Given the description of an element on the screen output the (x, y) to click on. 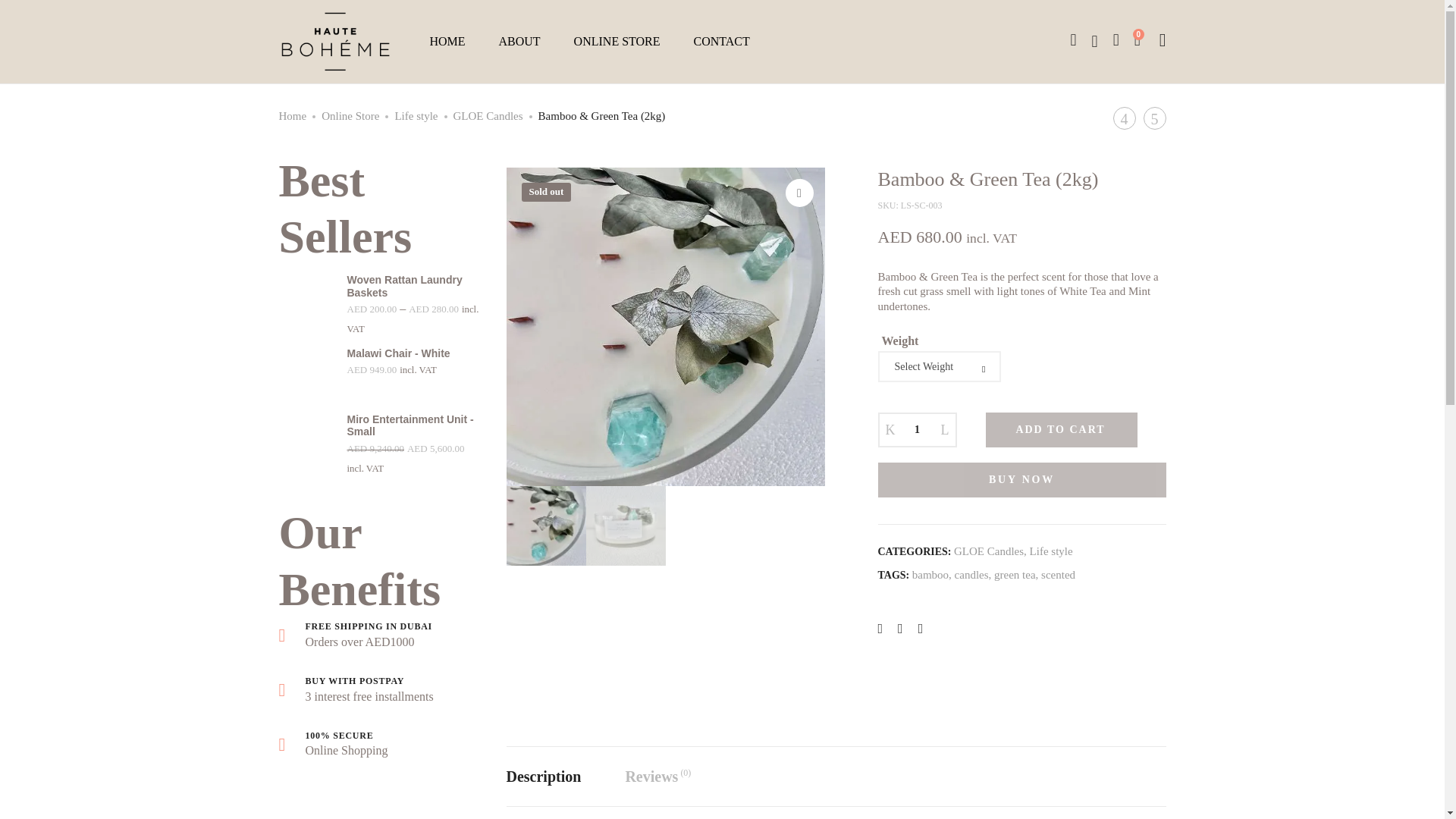
Qty (917, 429)
HOME (446, 41)
1 (917, 429)
ABOUT (519, 41)
ONLINE STORE (617, 41)
bg1 (665, 326)
